Given the description of an element on the screen output the (x, y) to click on. 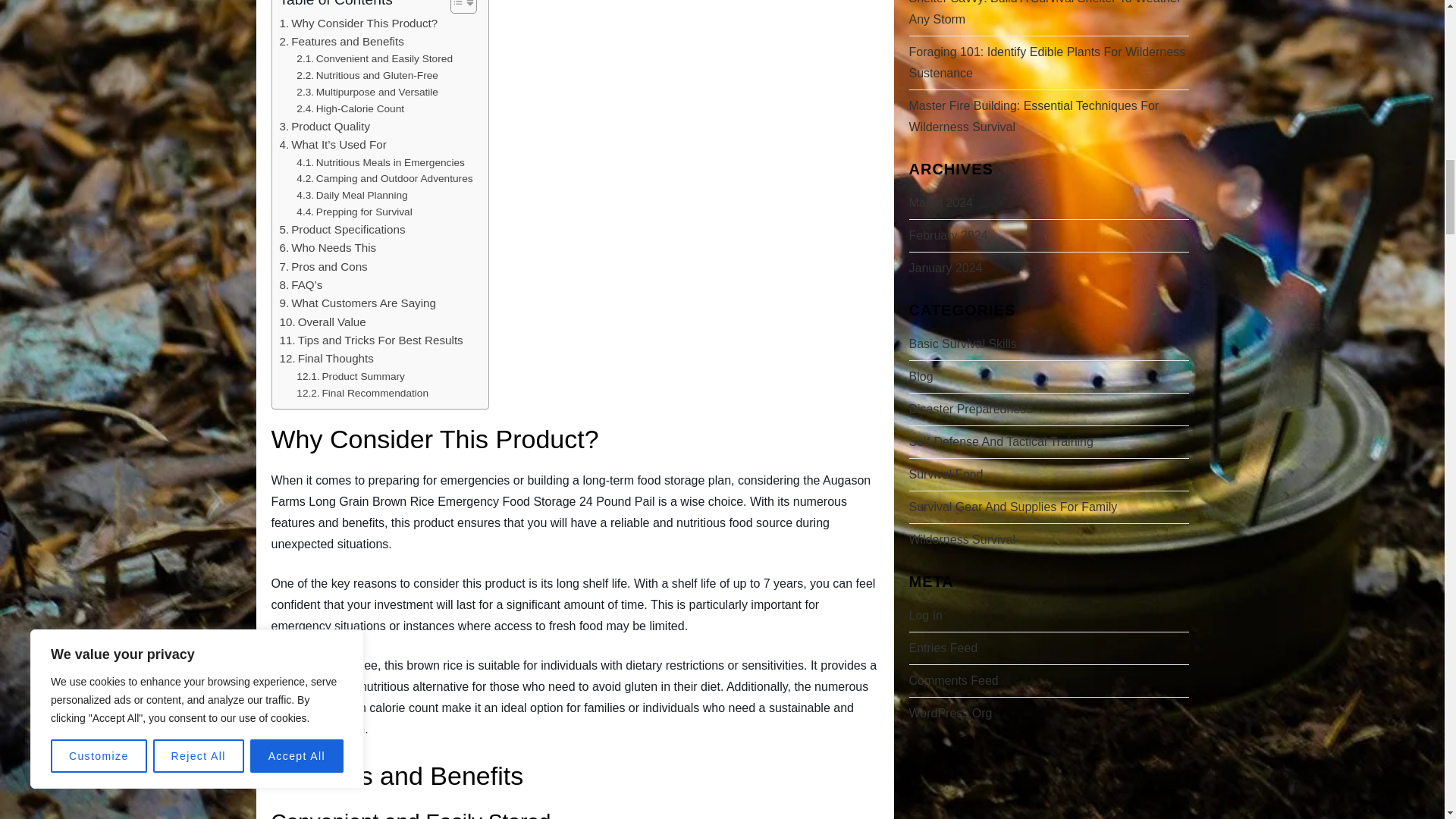
Convenient and Easily Stored (374, 58)
Why Consider This Product? (358, 23)
High-Calorie Count (350, 108)
Features and Benefits (341, 41)
High-Calorie Count (350, 108)
Prepping for Survival (354, 211)
Product Specifications (341, 229)
Convenient and Easily Stored (374, 58)
Nutritious and Gluten-Free (367, 75)
Features and Benefits (341, 41)
